Given the description of an element on the screen output the (x, y) to click on. 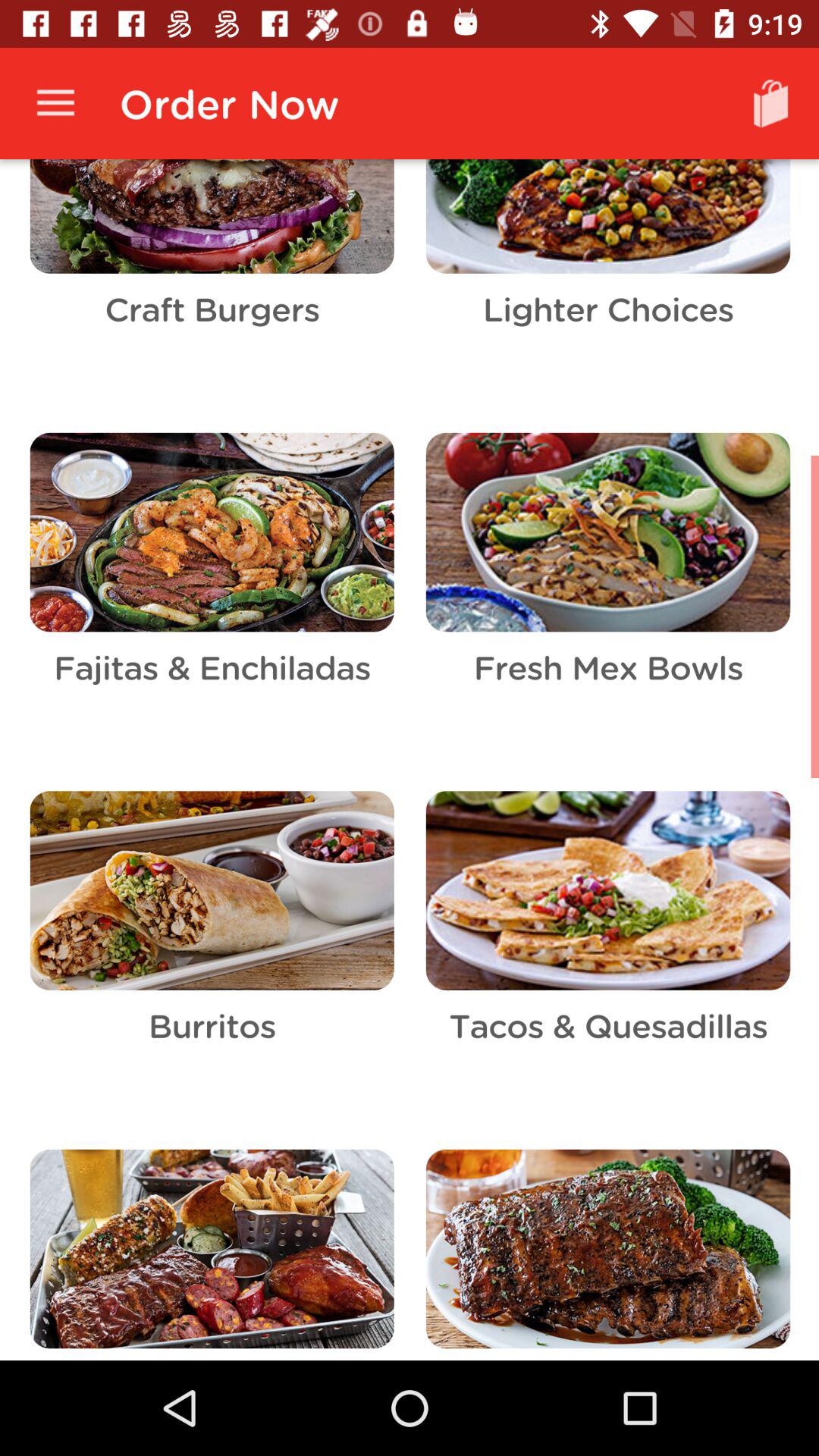
all selected content (409, 759)
